Given the description of an element on the screen output the (x, y) to click on. 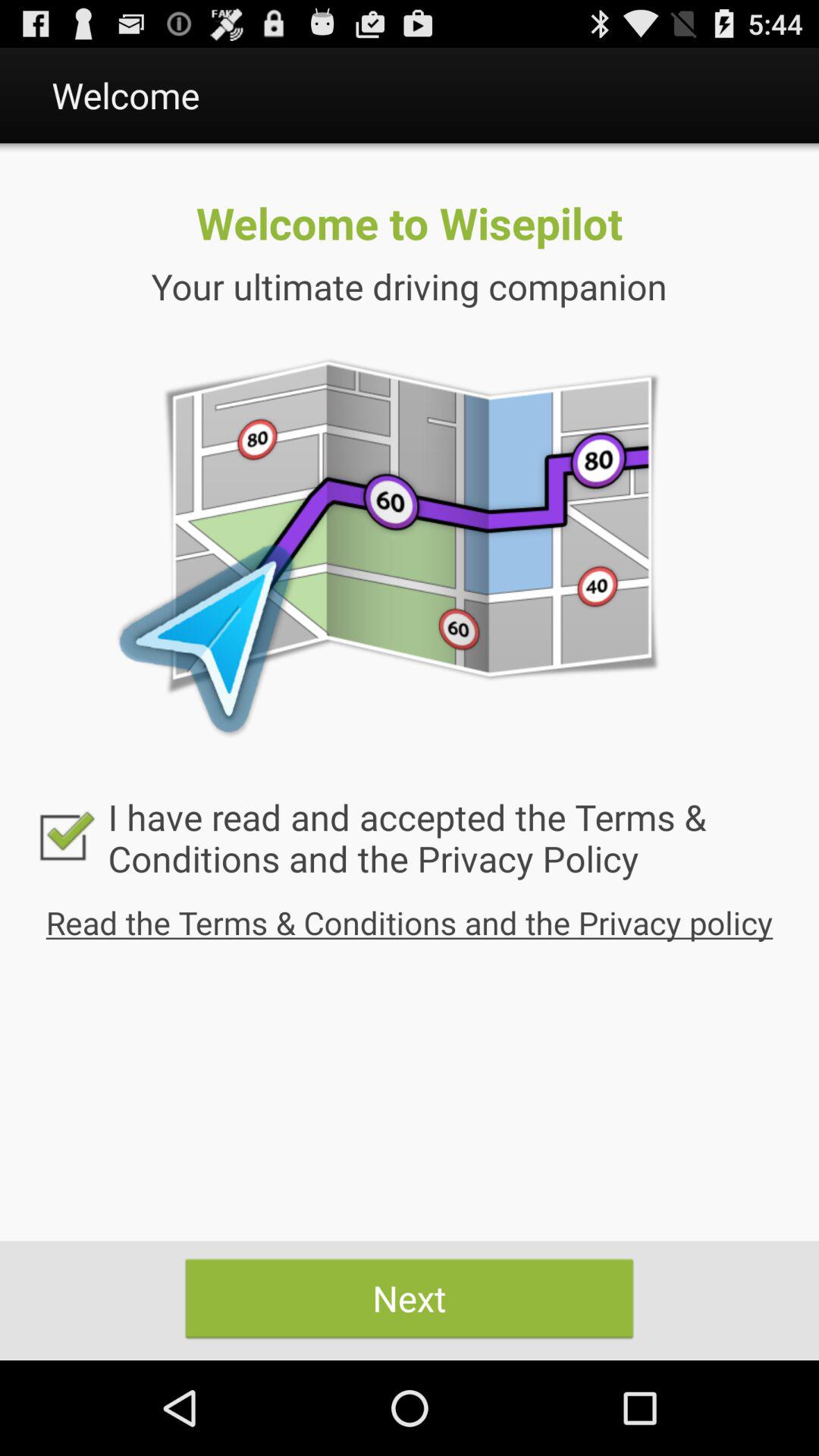
jump to i have read icon (409, 837)
